Given the description of an element on the screen output the (x, y) to click on. 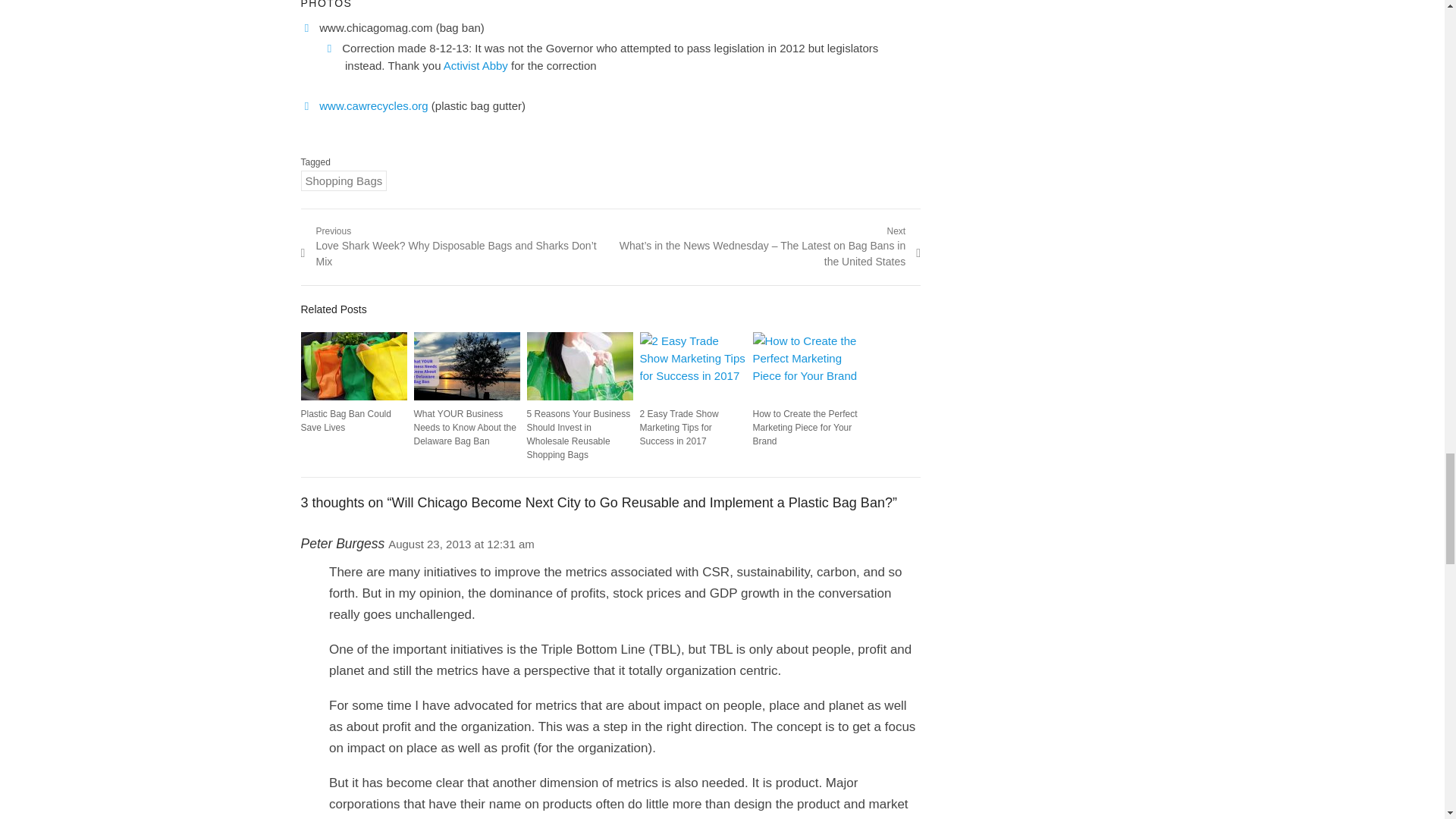
What YOUR Business Needs to Know About the Delaware Bag Ban (464, 427)
Plastic Bag Ban Could Save Lives (344, 420)
How to Create the Perfect Marketing Piece for Your Brand (804, 427)
2 Easy Trade Show Marketing Tips for Success in 2017 (692, 366)
What YOUR Business Needs to Know About the Delaware Bag Ban (466, 366)
How to Create the Perfect Marketing Piece for Your Brand (805, 366)
2 Easy Trade Show Marketing Tips for Success in 2017 (679, 427)
Plastic Bag Ban Could Save Lives (352, 366)
